Given the description of an element on the screen output the (x, y) to click on. 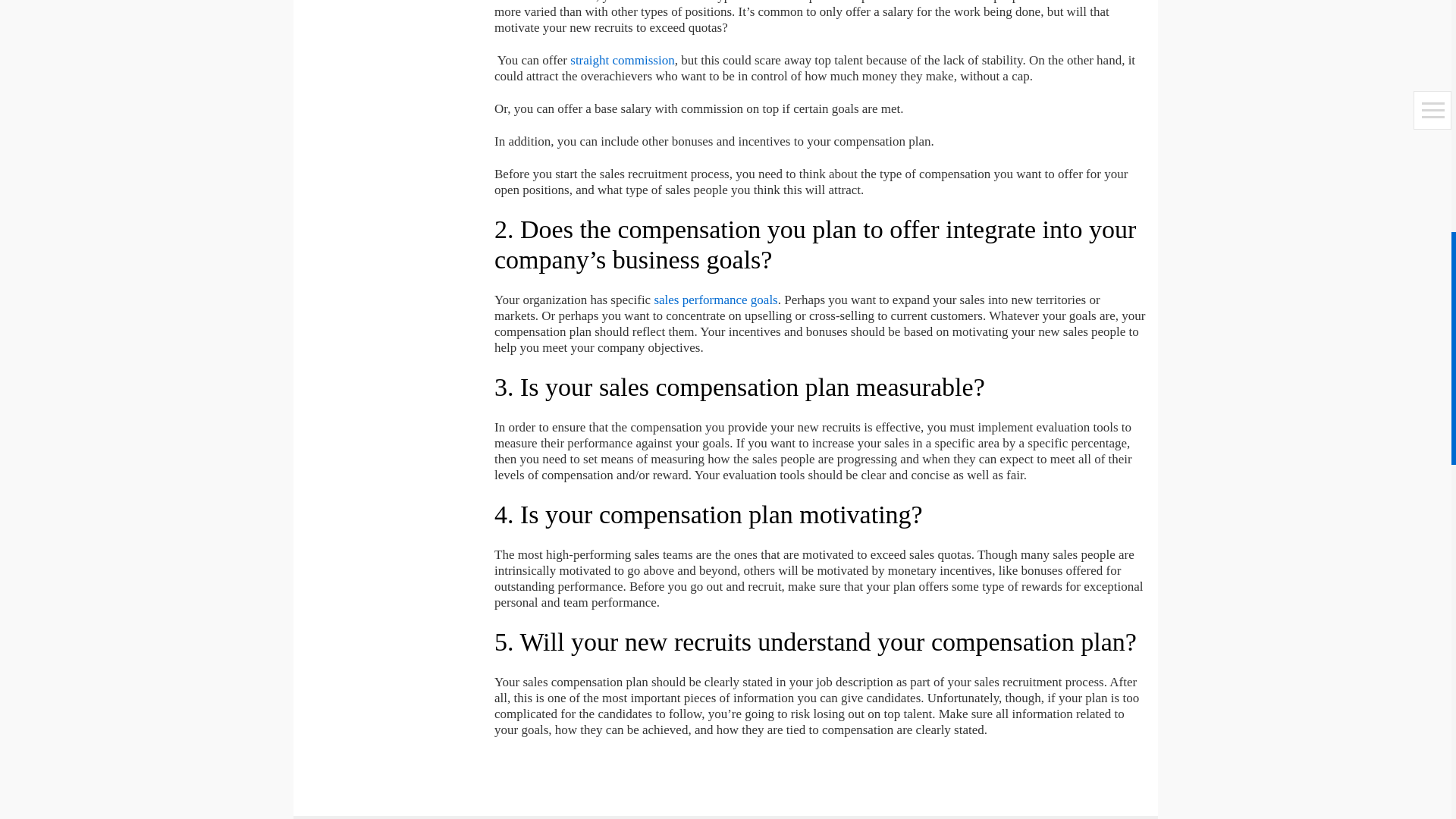
straight commission (622, 60)
sales performance goals (715, 299)
